Given the description of an element on the screen output the (x, y) to click on. 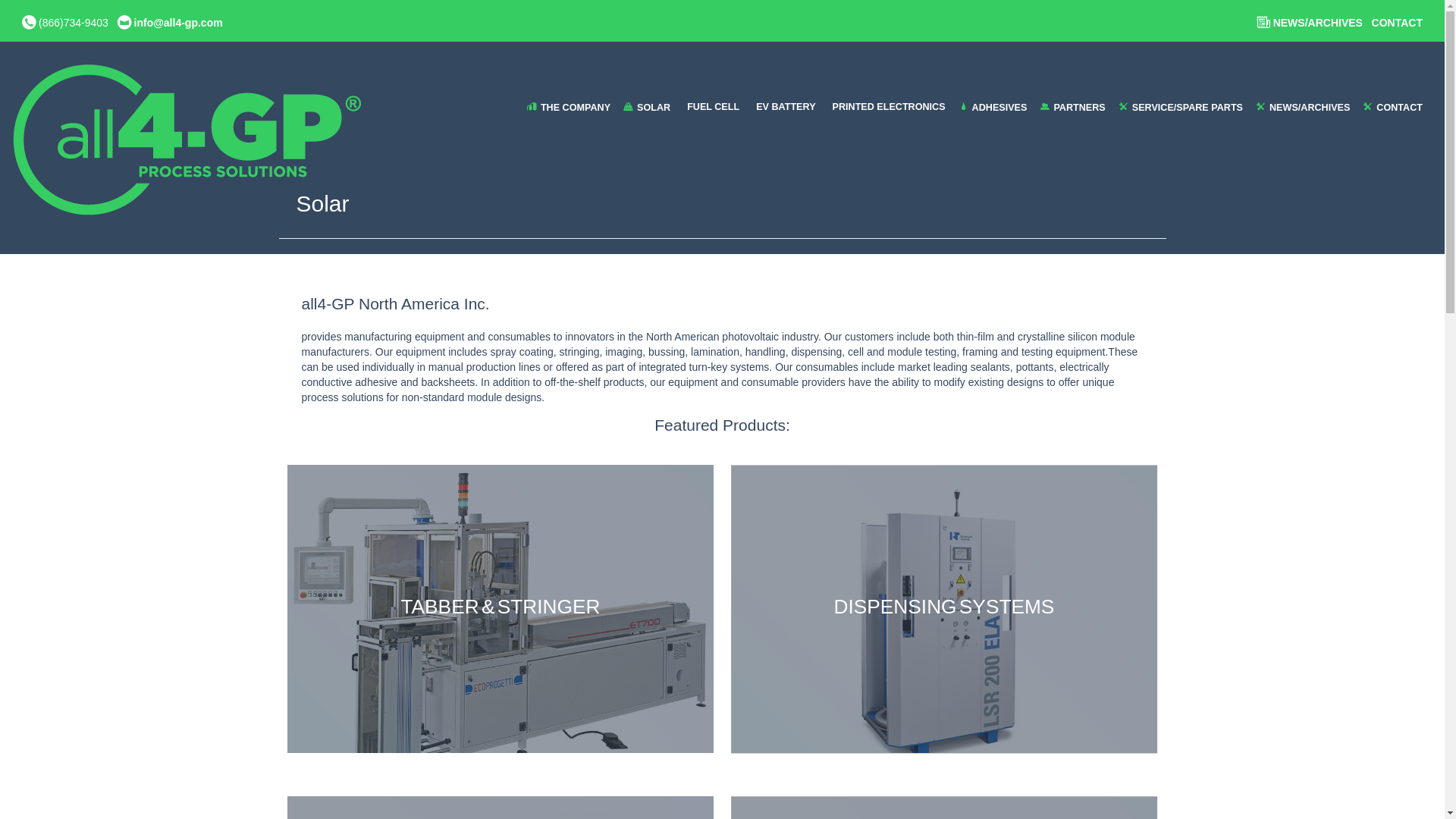
CONTACT (1395, 101)
Process Solutions for High-Tech Manufacturing (186, 139)
